Given the description of an element on the screen output the (x, y) to click on. 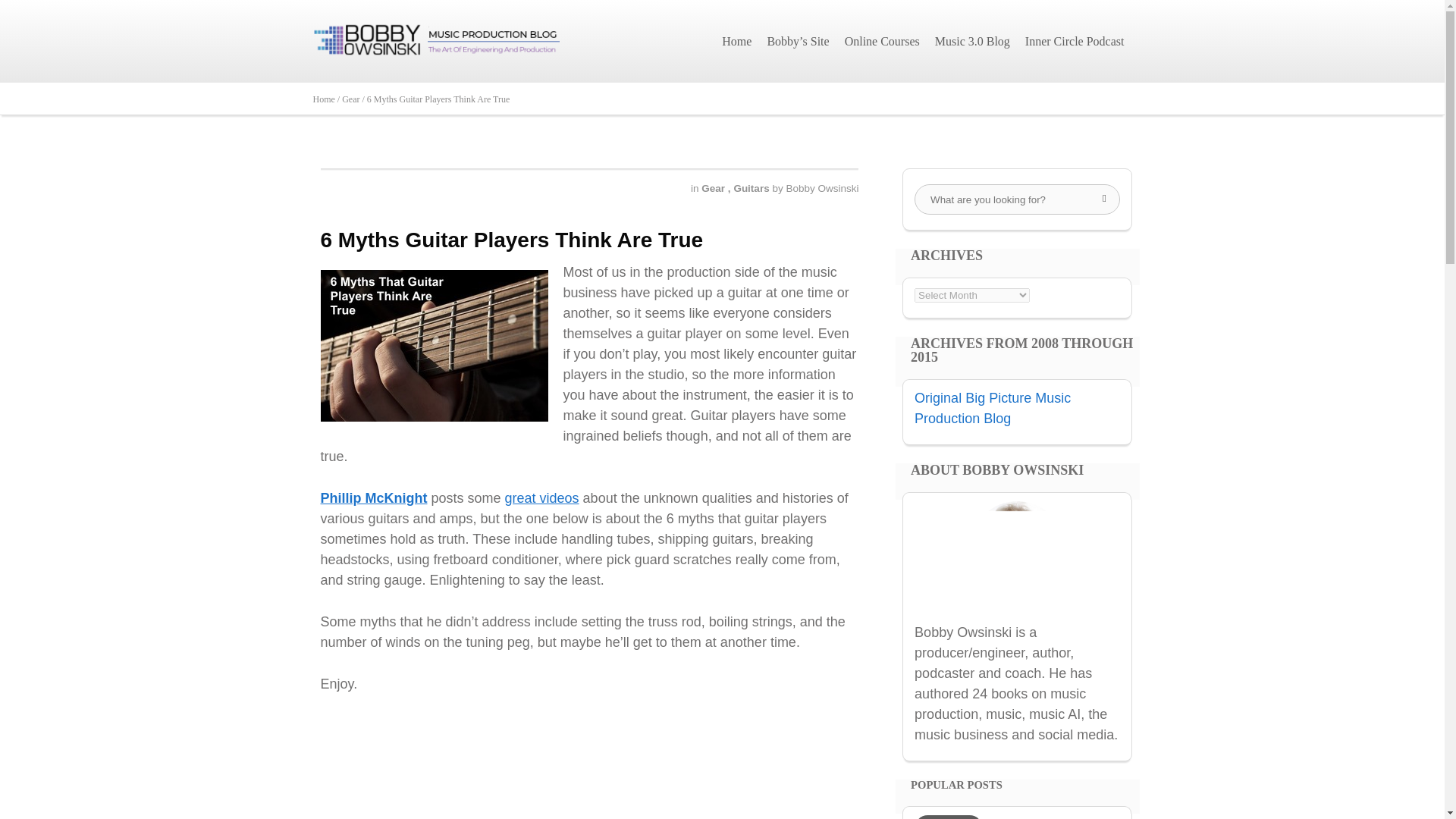
Bobby Owsinski (822, 188)
Home (736, 41)
Online Courses (882, 41)
6 Myths Guitar Players Think Are True (511, 239)
Gear (714, 188)
Phillip McKnight (373, 498)
great videos (542, 498)
Original Big Picture Music Production Blog (992, 407)
Music 3.0 Blog (972, 41)
Inner Circle Podcast (1074, 41)
Guitars (752, 188)
